Given the description of an element on the screen output the (x, y) to click on. 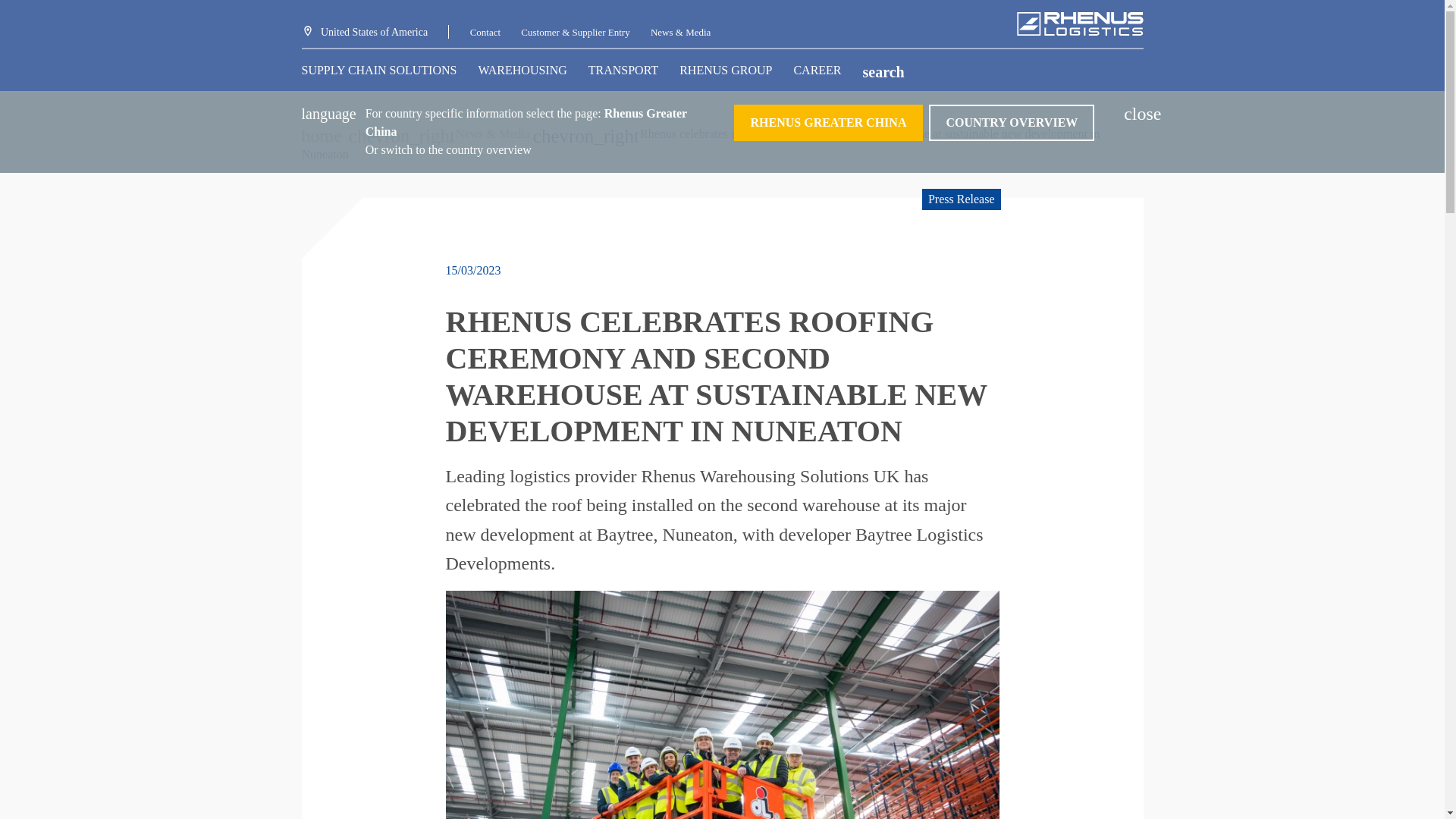
Rhenus worldwide (1011, 122)
Rhenus worldwide (364, 31)
United States of America (364, 31)
